Given the description of an element on the screen output the (x, y) to click on. 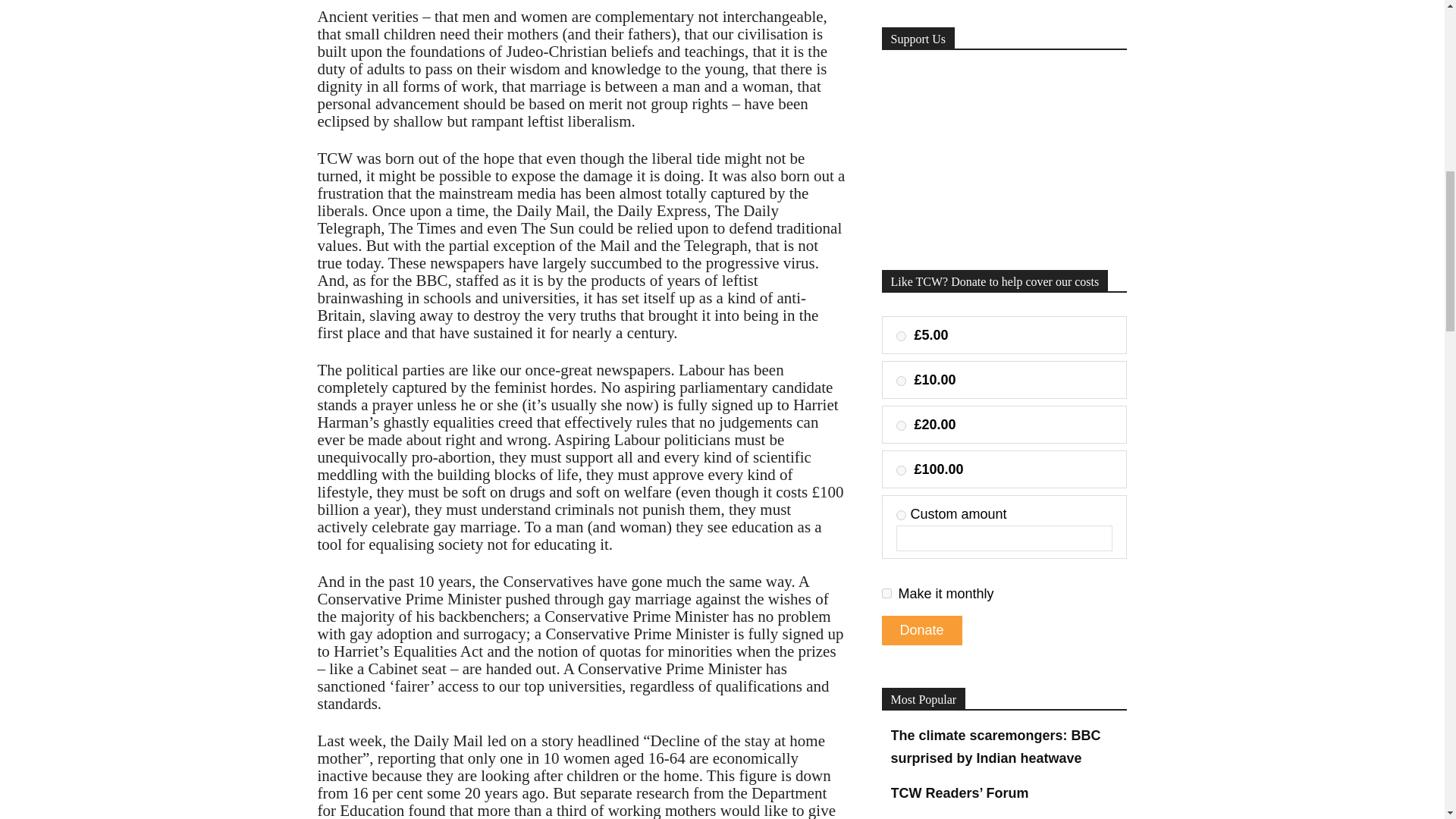
10 (900, 380)
month (885, 593)
100 (900, 470)
20 (900, 425)
5 (900, 336)
custom (900, 515)
